Given the description of an element on the screen output the (x, y) to click on. 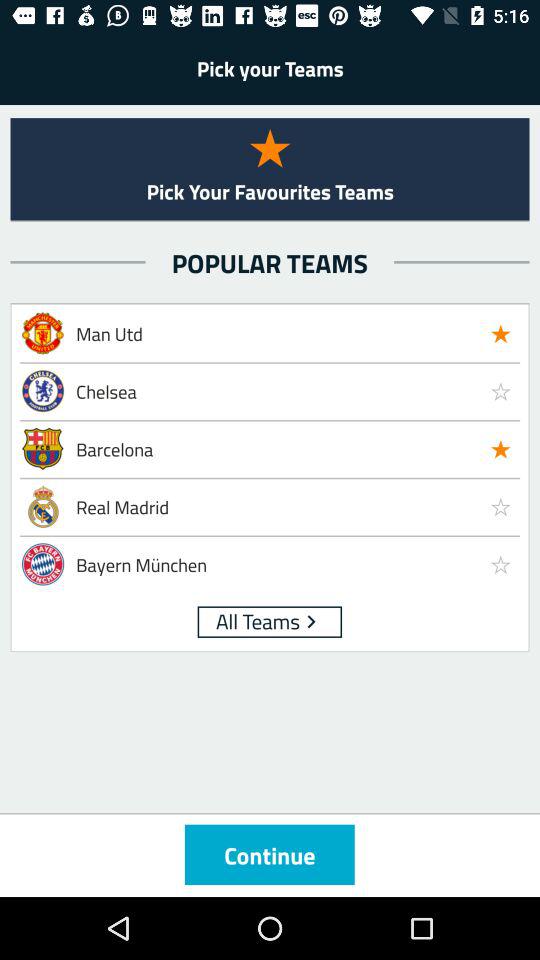
jump until the continue (269, 854)
